Given the description of an element on the screen output the (x, y) to click on. 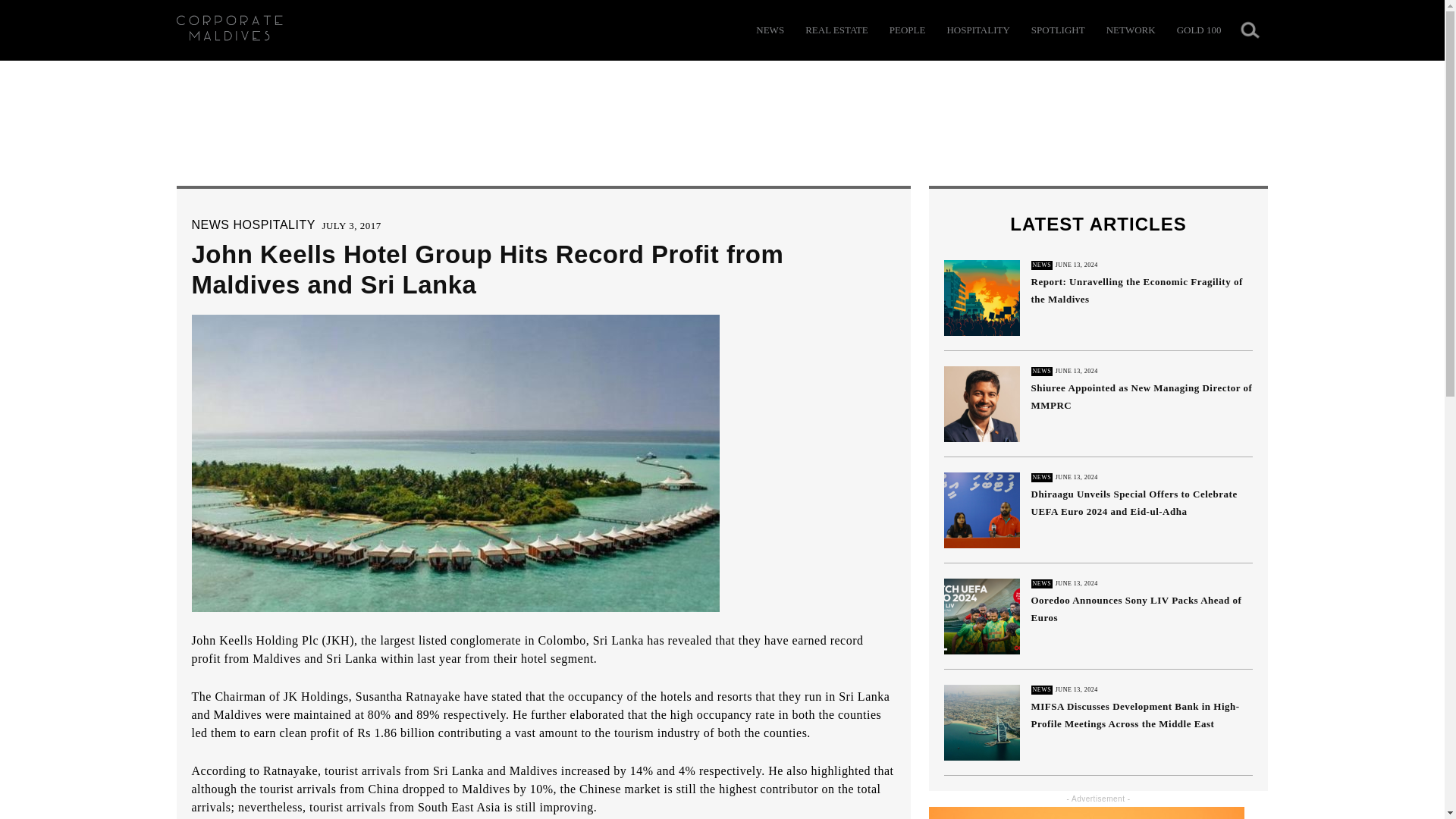
REAL ESTATE (836, 30)
SPOTLIGHT (1057, 30)
PEOPLE (907, 30)
HOSPITALITY (273, 224)
NEWS (209, 224)
HOSPITALITY (977, 30)
NETWORK (1131, 30)
NEWS (769, 30)
GOLD 100 (1198, 30)
